Given the description of an element on the screen output the (x, y) to click on. 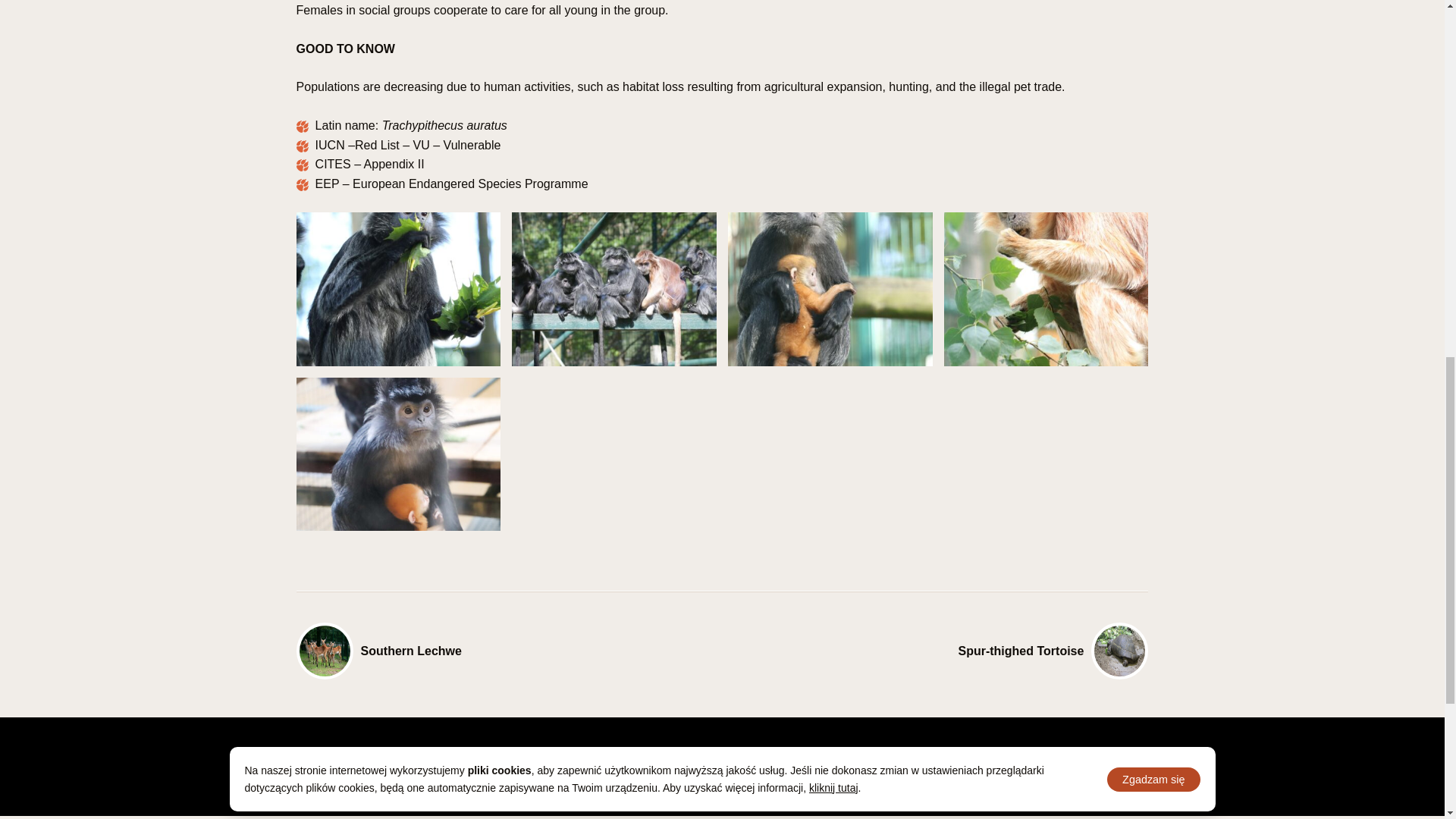
Southern Lechwe (509, 650)
Spur-thighed Tortoise (935, 650)
